Given the description of an element on the screen output the (x, y) to click on. 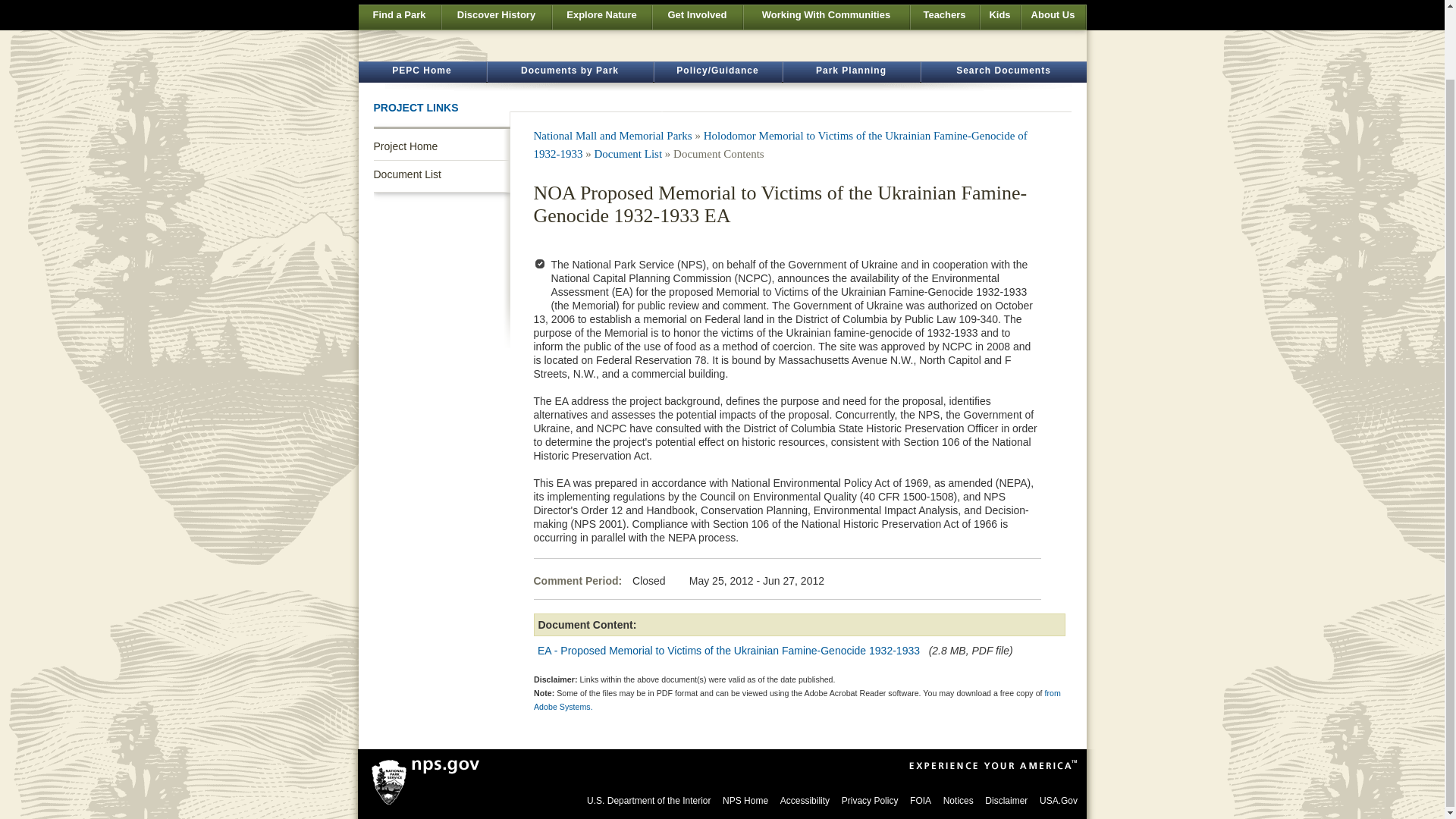
Documents by Park (569, 72)
Policy and guidance links (716, 72)
National Mall and Memorial Parks (613, 135)
Accessibility (804, 800)
Project Home (440, 146)
Find projects by search (1003, 72)
All projects with documents posted for review (421, 72)
Document List (628, 153)
from Adobe Systems. (797, 699)
NPS Home (745, 800)
